Given the description of an element on the screen output the (x, y) to click on. 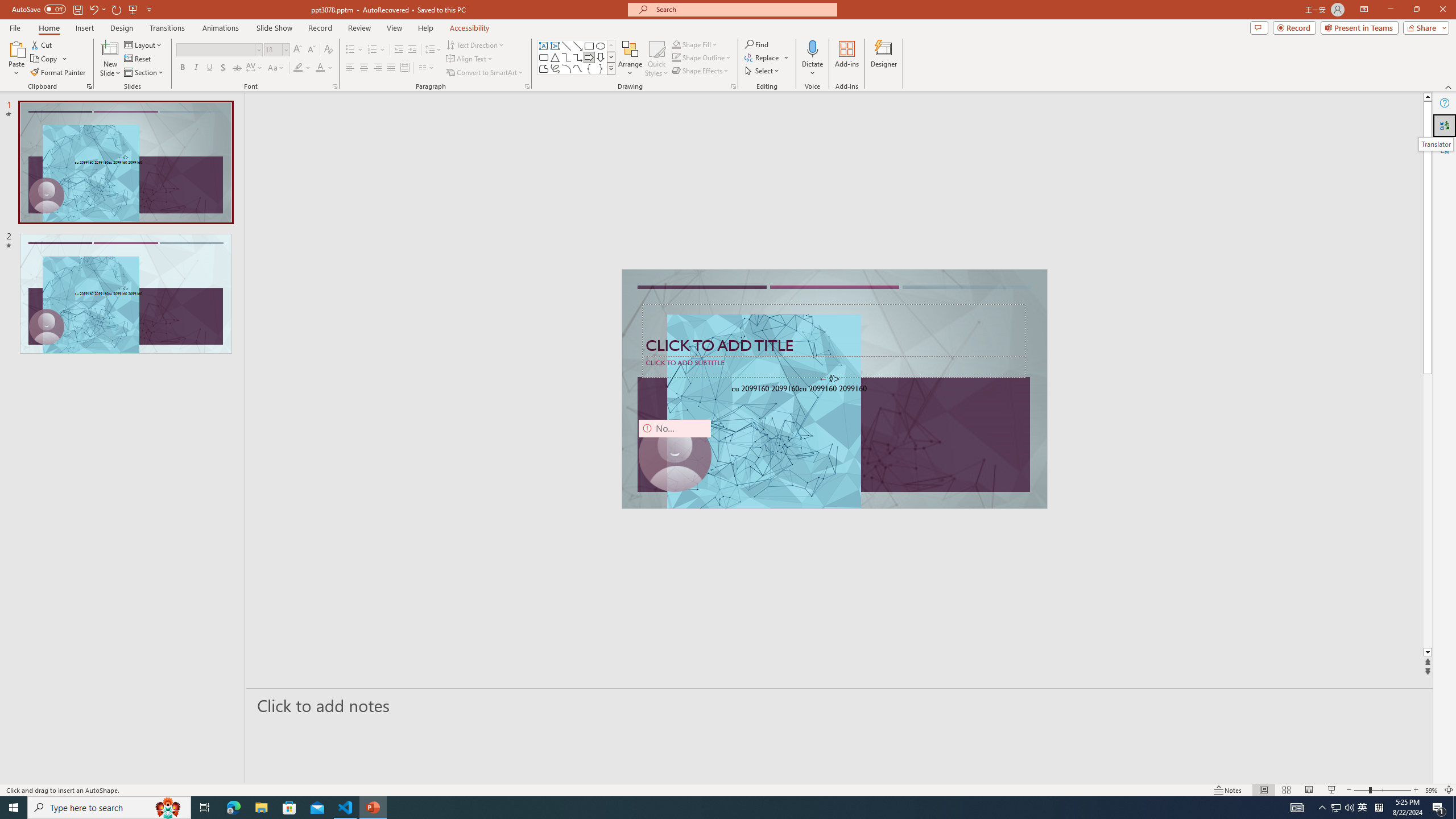
Shape Fill Dark Green, Accent 2 (675, 44)
